Given the description of an element on the screen output the (x, y) to click on. 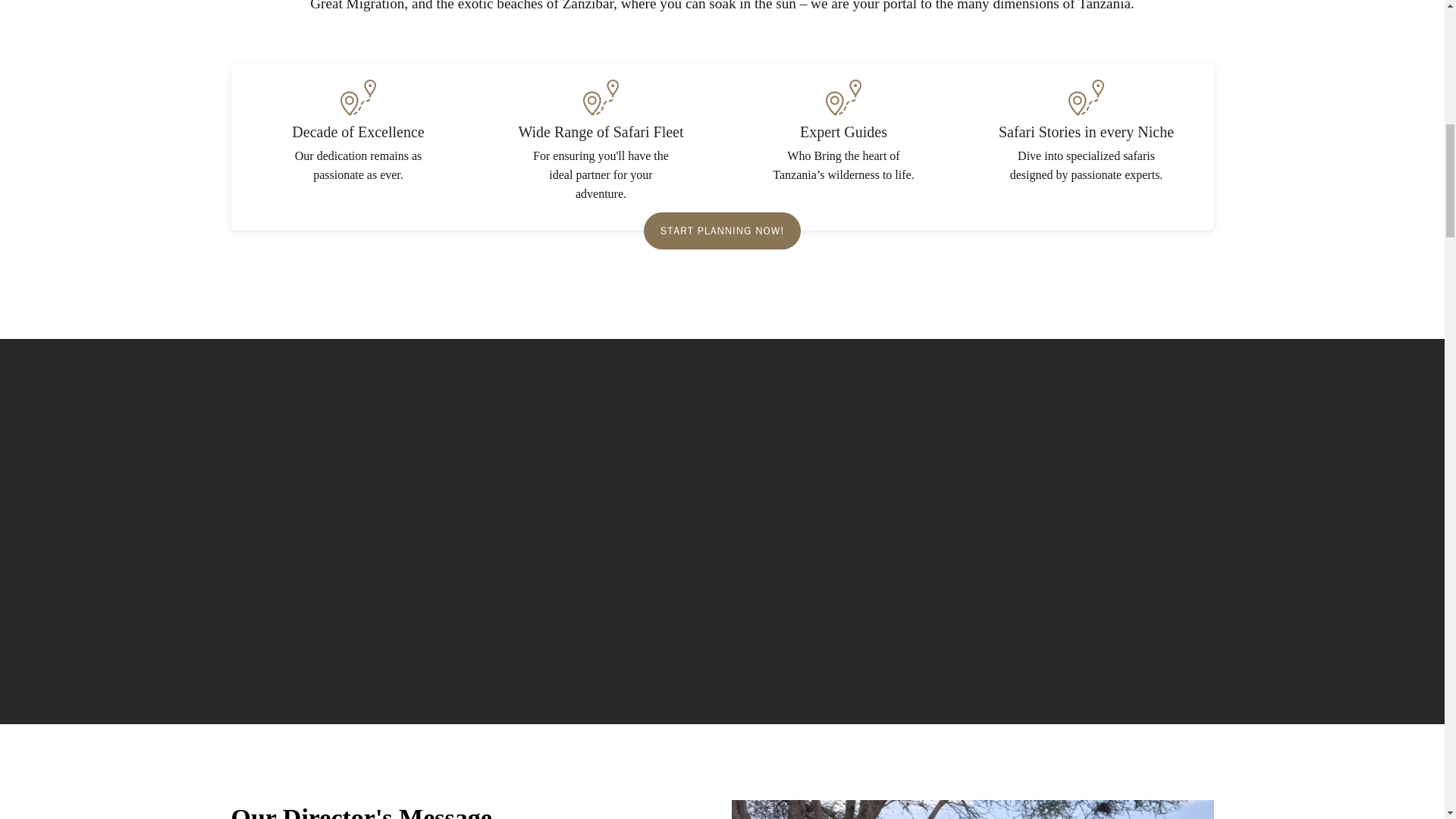
START PLANNING NOW! (722, 230)
